Given the description of an element on the screen output the (x, y) to click on. 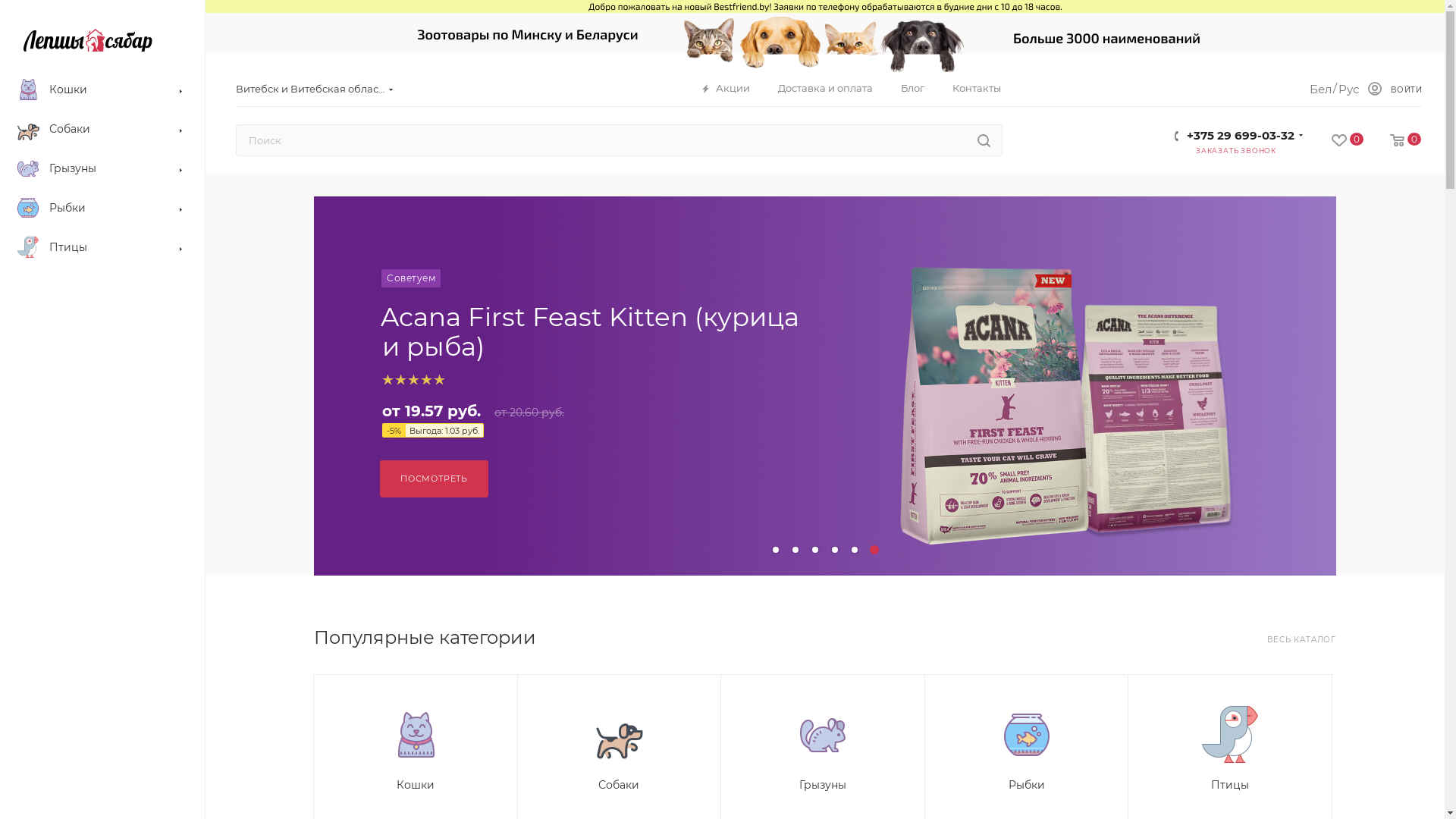
Bestfriend.by Element type: hover (87, 39)
0 Element type: text (1392, 140)
+375 29 699-03-32 Element type: text (1240, 132)
0 Element type: text (1334, 140)
